Given the description of an element on the screen output the (x, y) to click on. 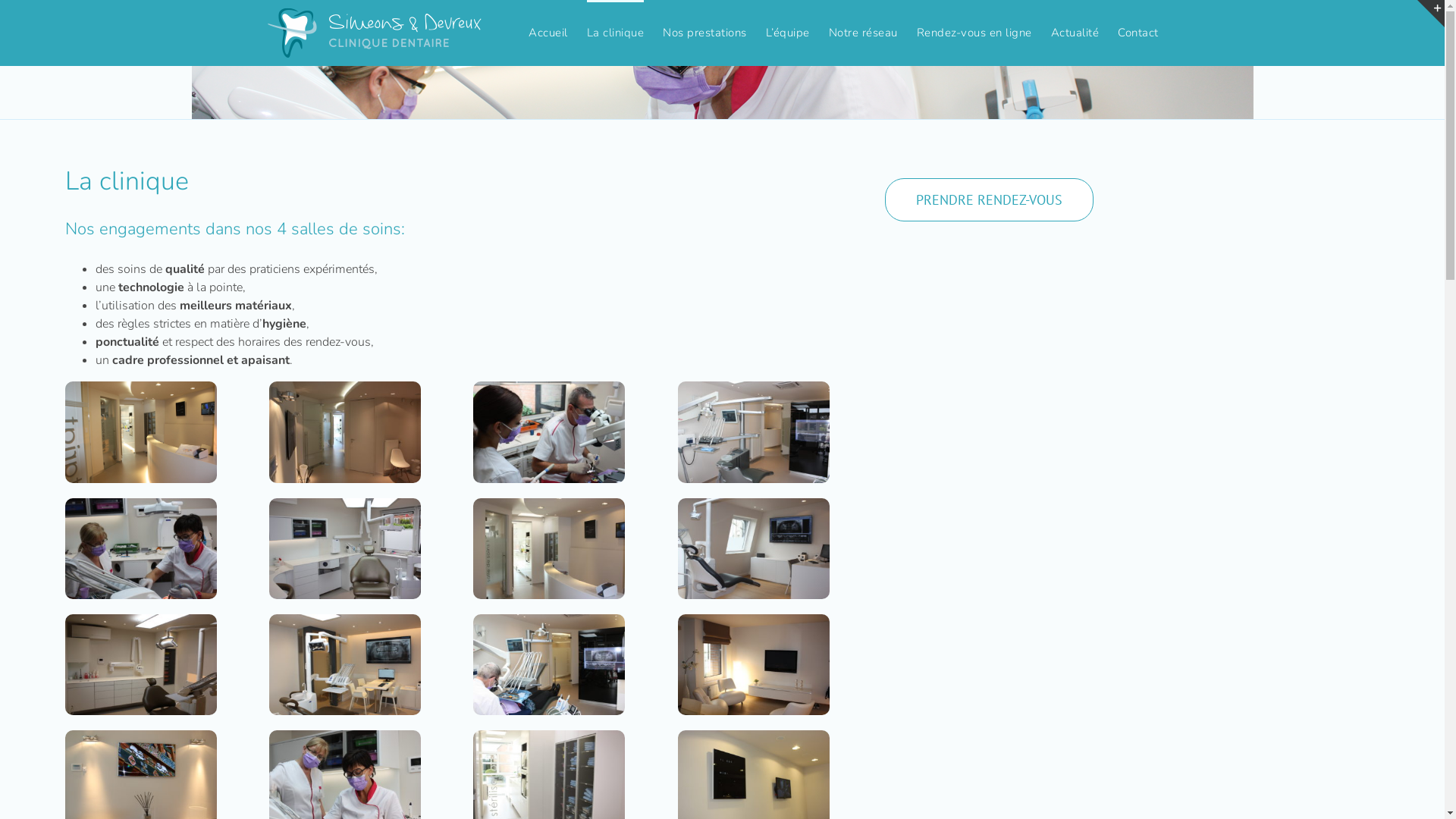
La clinique Element type: text (615, 31)
La clinique Element type: hover (753, 390)
La clinique Element type: hover (753, 623)
La clinique Element type: hover (140, 390)
La clinique Element type: hover (344, 506)
PRENDRE RENDEZ-VOUS Element type: text (988, 199)
La clinique Element type: hover (721, 92)
La clinique Element type: hover (548, 390)
Rendez-vous en ligne Element type: text (973, 31)
La clinique Element type: hover (140, 739)
La clinique Element type: hover (548, 506)
Nos prestations Element type: text (704, 31)
La clinique Element type: hover (344, 390)
Contact Element type: text (1137, 31)
La clinique Element type: hover (140, 506)
La clinique Element type: hover (140, 623)
La clinique Element type: hover (344, 623)
La clinique Element type: hover (753, 506)
La clinique Element type: hover (548, 739)
La clinique Element type: hover (548, 623)
La clinique Element type: hover (753, 739)
Toggle Sliding Bar Area Element type: text (1430, 13)
Accueil Element type: text (547, 31)
La clinique Element type: hover (344, 739)
